Given the description of an element on the screen output the (x, y) to click on. 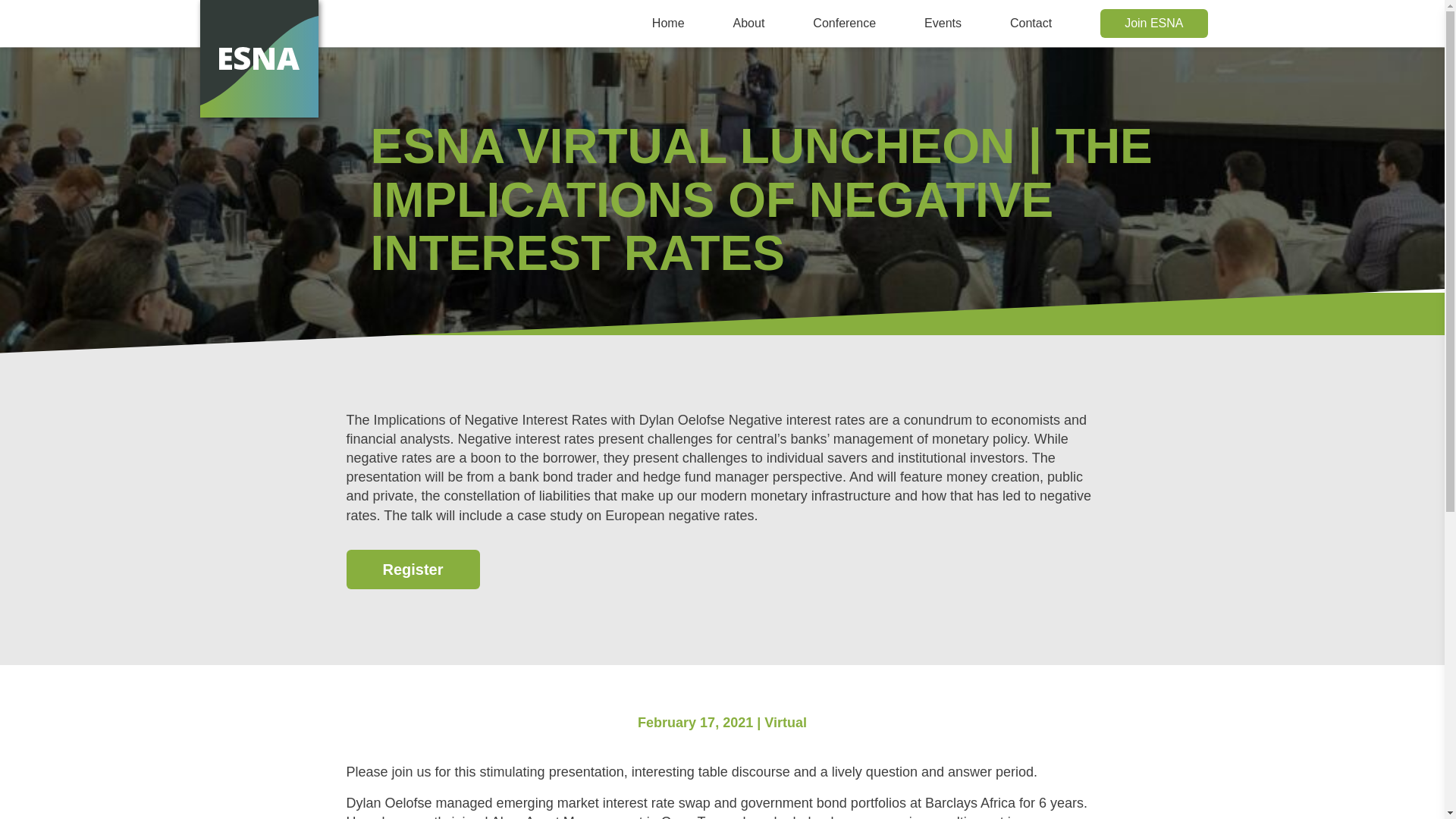
Join ESNA (1153, 22)
Register (412, 568)
About (749, 22)
Events (942, 22)
Home (668, 22)
Contact (1030, 22)
Conference (844, 22)
